Given the description of an element on the screen output the (x, y) to click on. 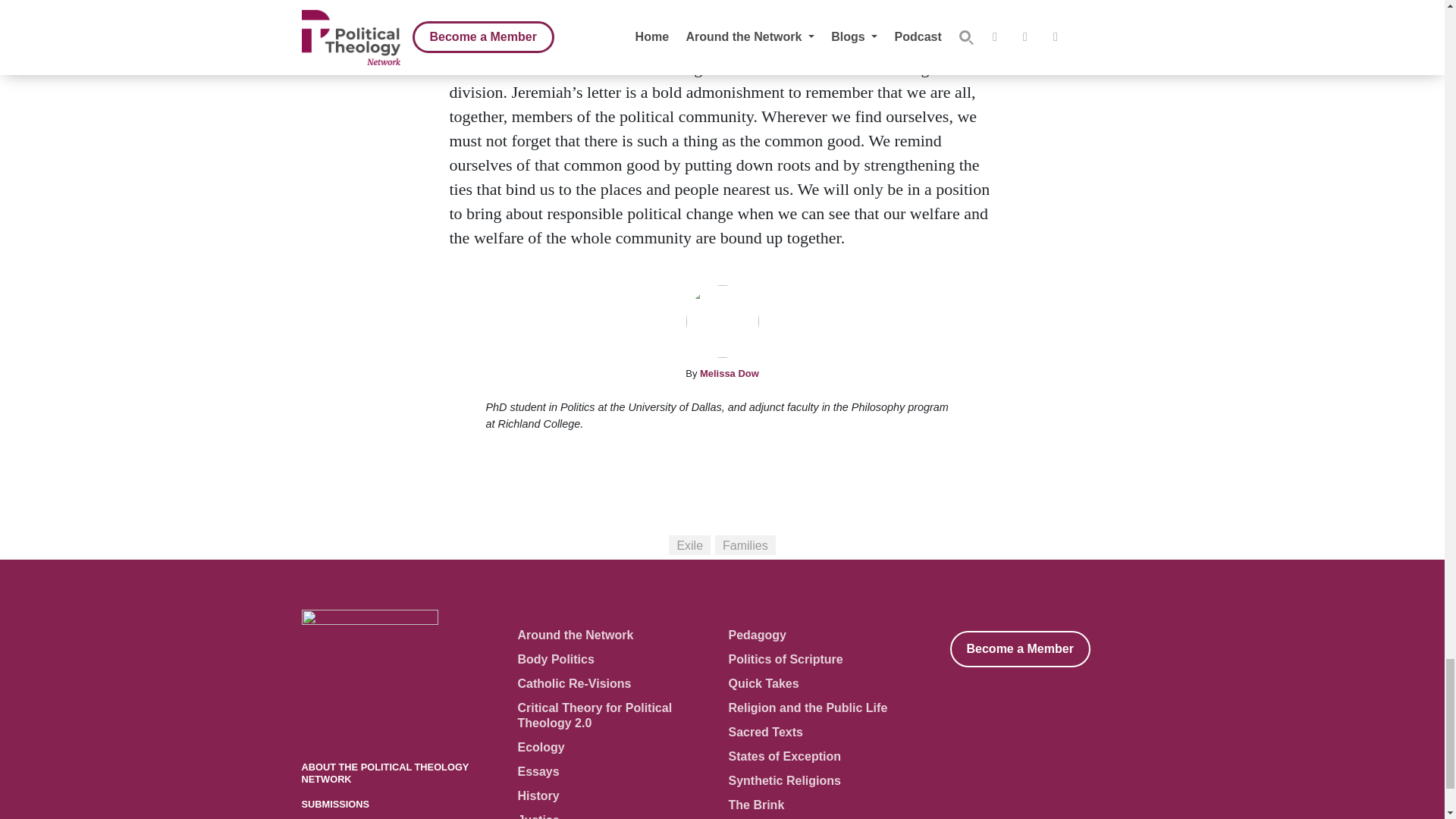
Critical Theory for Political Theology 2.0 (593, 714)
SUBMISSIONS (335, 803)
Ecology (540, 747)
ABOUT THE POLITICAL THEOLOGY NETWORK (384, 772)
Catholic Re-Visions (573, 683)
Exile (689, 545)
Body Politics (555, 658)
Around the Network (574, 634)
Melissa Dow (729, 373)
View all posts in families (745, 545)
